Given the description of an element on the screen output the (x, y) to click on. 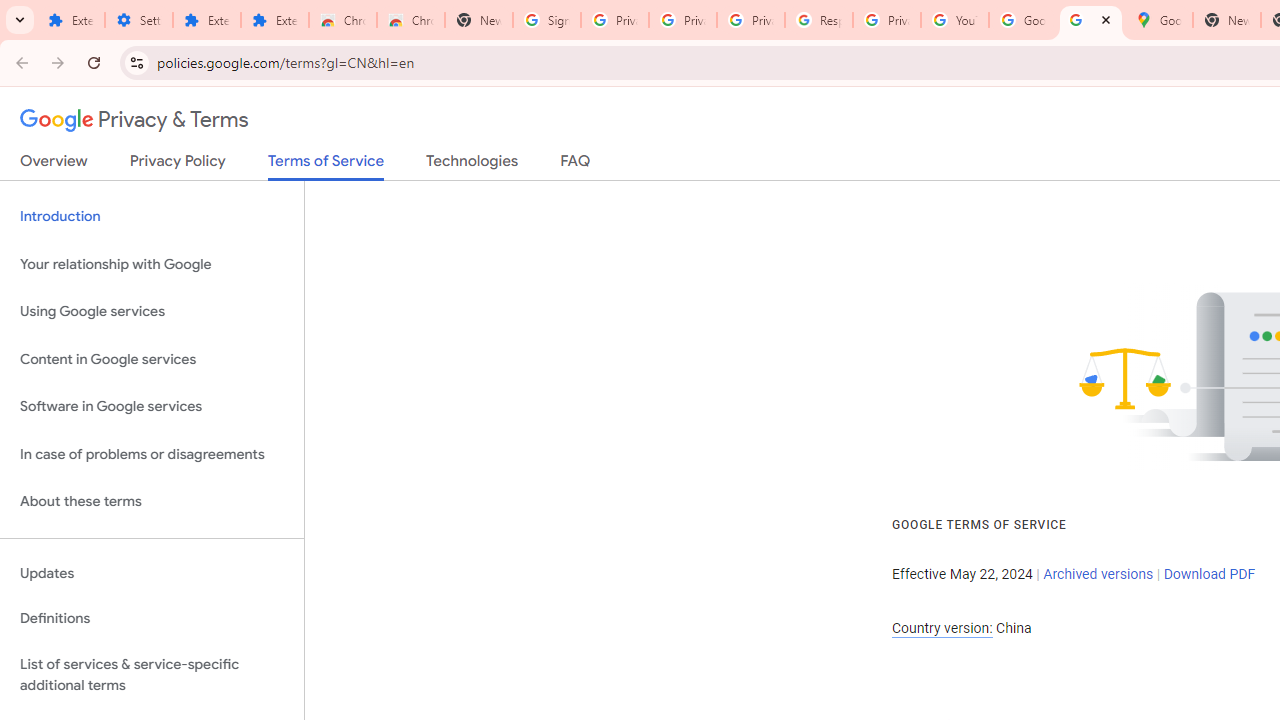
About these terms (152, 502)
YouTube (954, 20)
New Tab (479, 20)
Chrome Web Store - Themes (411, 20)
Download PDF (1209, 574)
Country version: (942, 628)
Extensions (274, 20)
Sign in - Google Accounts (547, 20)
